Given the description of an element on the screen output the (x, y) to click on. 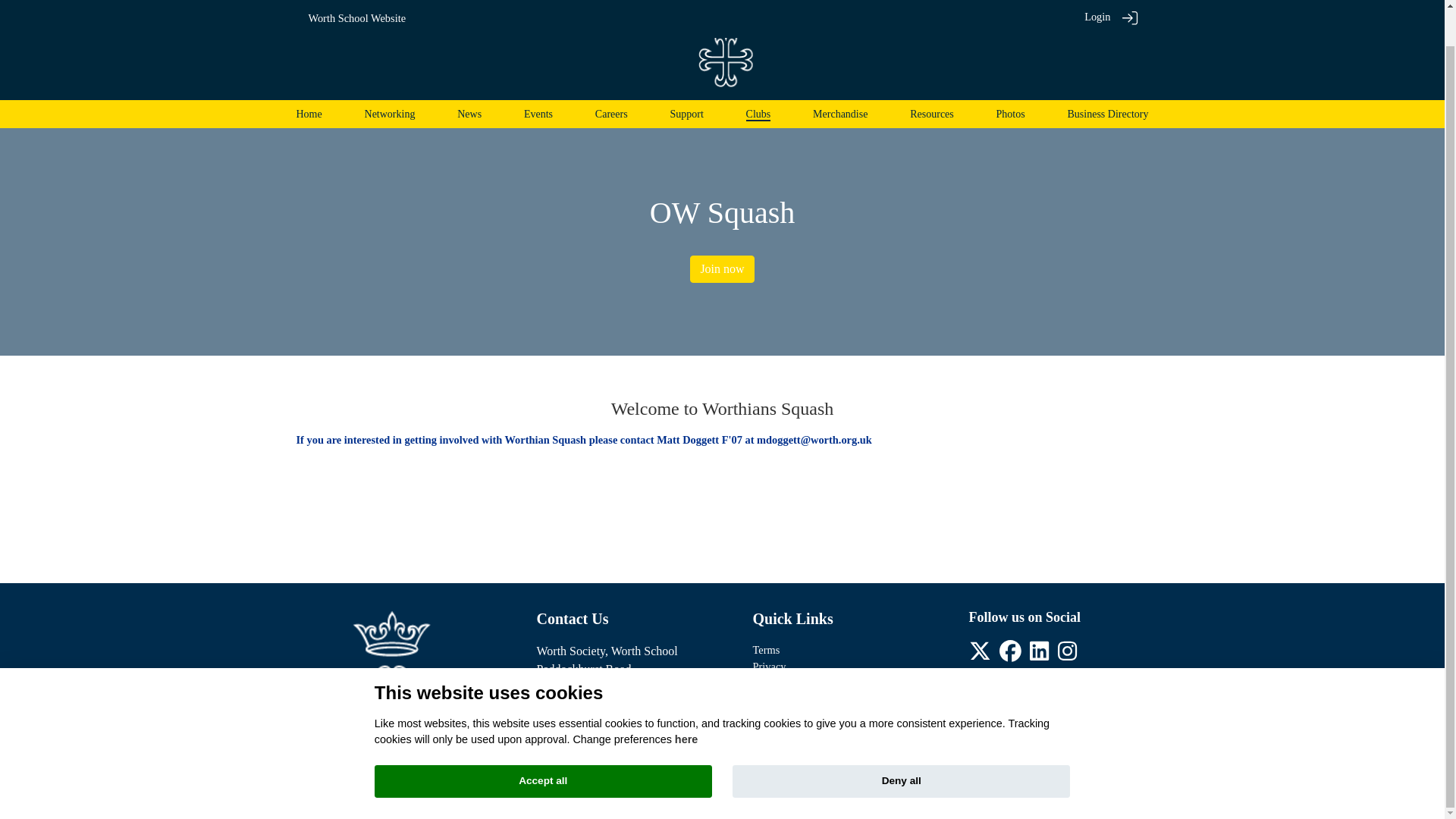
Business Directory (1107, 113)
News (469, 113)
Resources (931, 113)
Privacy (769, 666)
Photos (1010, 113)
Merchandise (839, 113)
ToucanTech (778, 784)
Support (686, 113)
Cookies (769, 682)
Instagram (1067, 654)
